Given the description of an element on the screen output the (x, y) to click on. 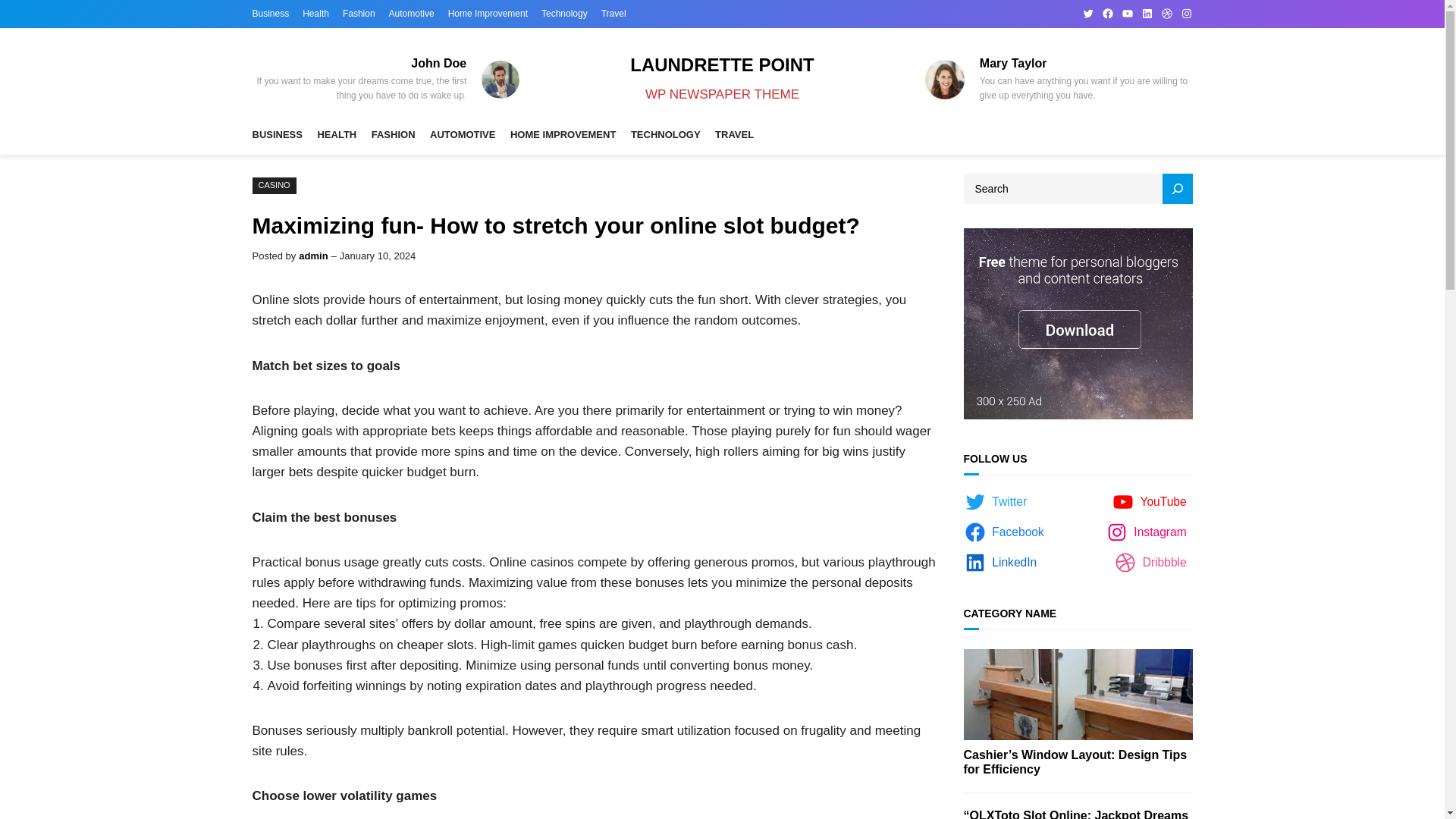
LinkedIn (1146, 13)
TECHNOLOGY (665, 134)
Travel (613, 13)
LinkedIn (1002, 562)
CATEGORY NAME (1009, 613)
HEALTH (336, 134)
TRAVEL (734, 134)
Dribbble (1152, 562)
Instagram (1185, 13)
FASHION (392, 134)
